Given the description of an element on the screen output the (x, y) to click on. 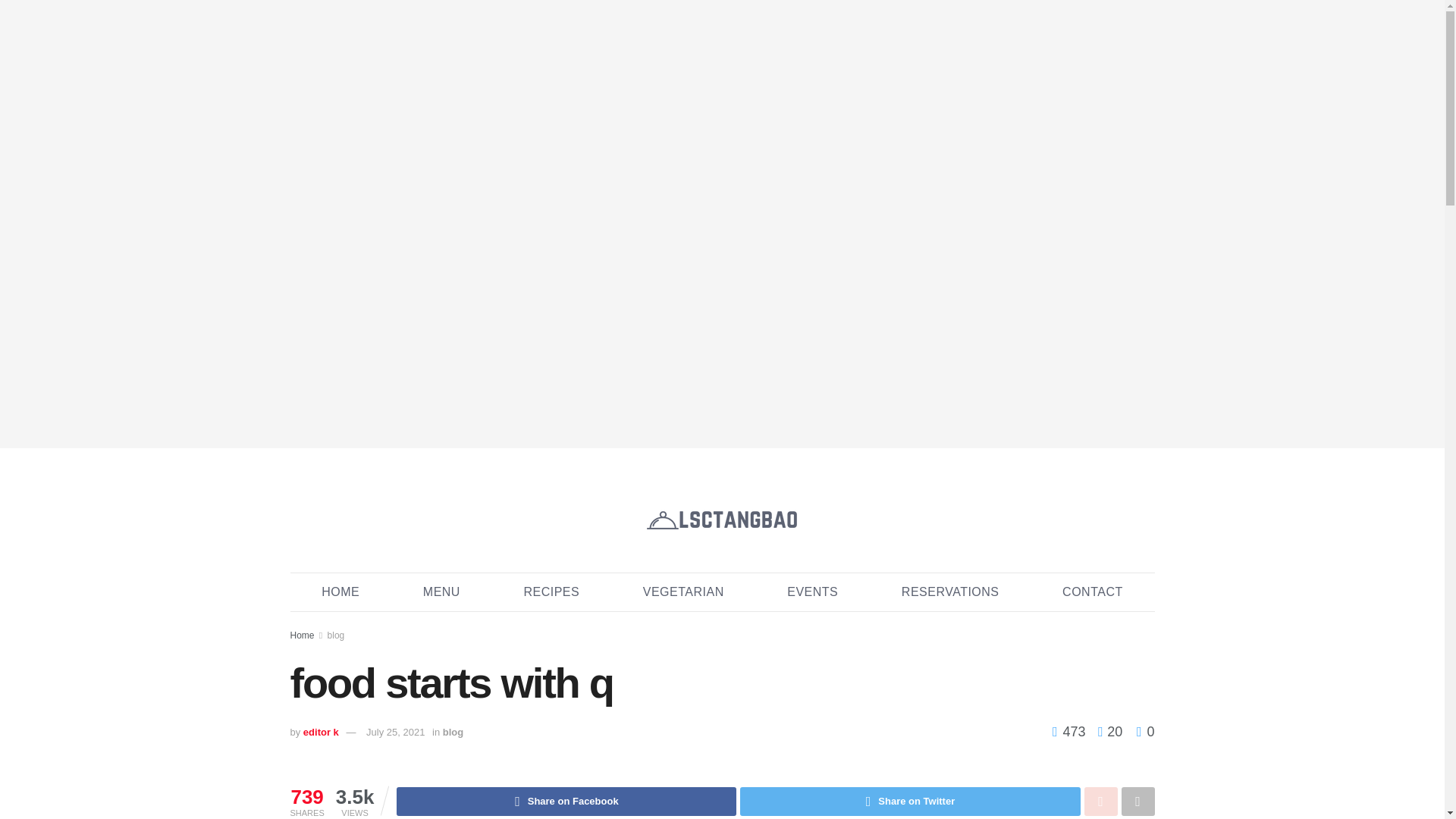
RECIPES (551, 591)
blog (336, 634)
VEGETARIAN (683, 591)
Share on Twitter (909, 801)
CONTACT (1092, 591)
July 25, 2021 (395, 731)
RESERVATIONS (949, 591)
20 (1105, 731)
0 (1145, 731)
EVENTS (812, 591)
Share on Facebook (566, 801)
473 (1070, 731)
editor k (320, 731)
blog (452, 731)
Home (301, 634)
